Given the description of an element on the screen output the (x, y) to click on. 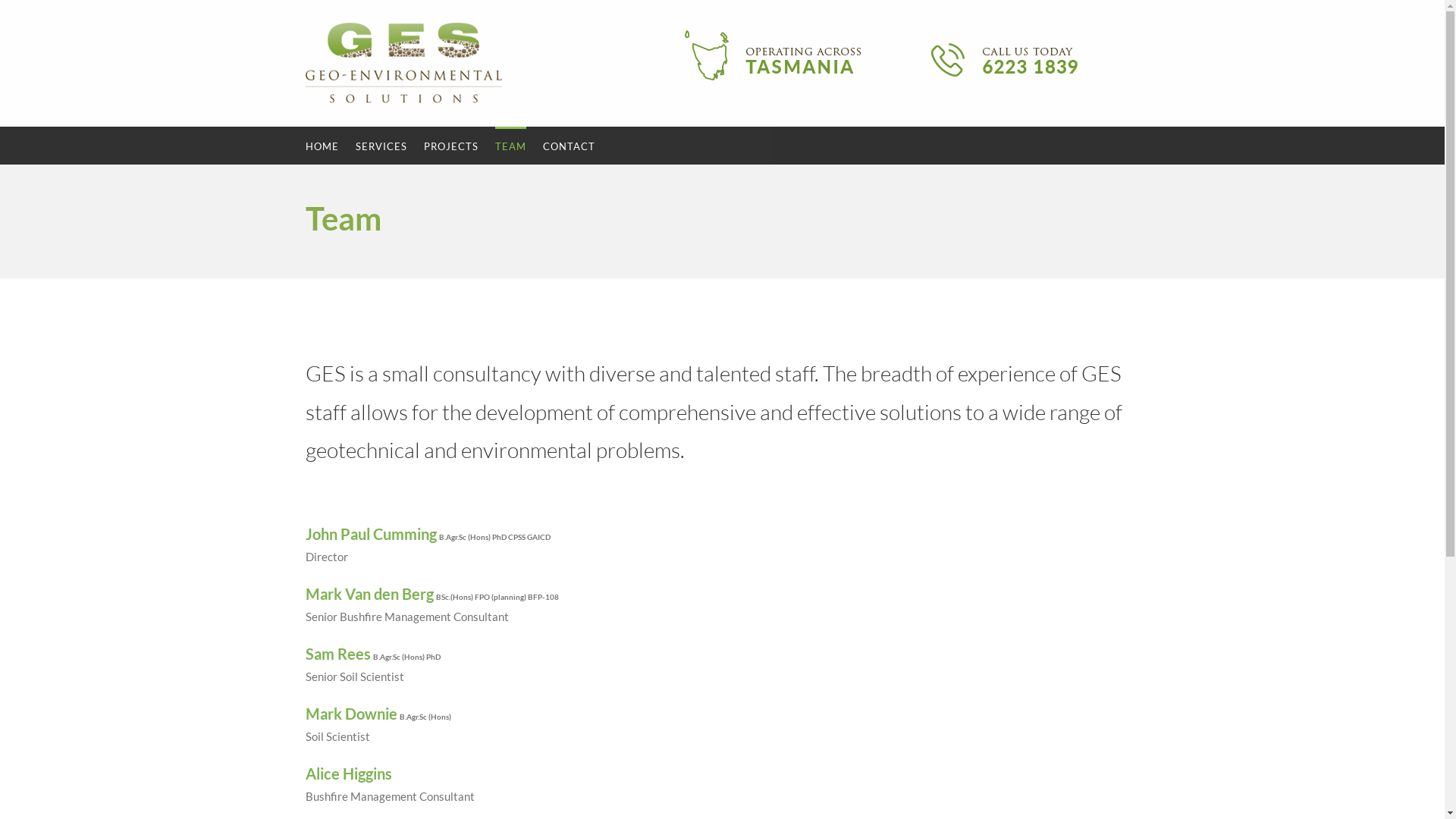
CONTACT Element type: text (568, 145)
SERVICES Element type: text (380, 145)
PROJECTS Element type: text (450, 145)
HOME Element type: text (321, 145)
TEAM Element type: text (509, 145)
